Given the description of an element on the screen output the (x, y) to click on. 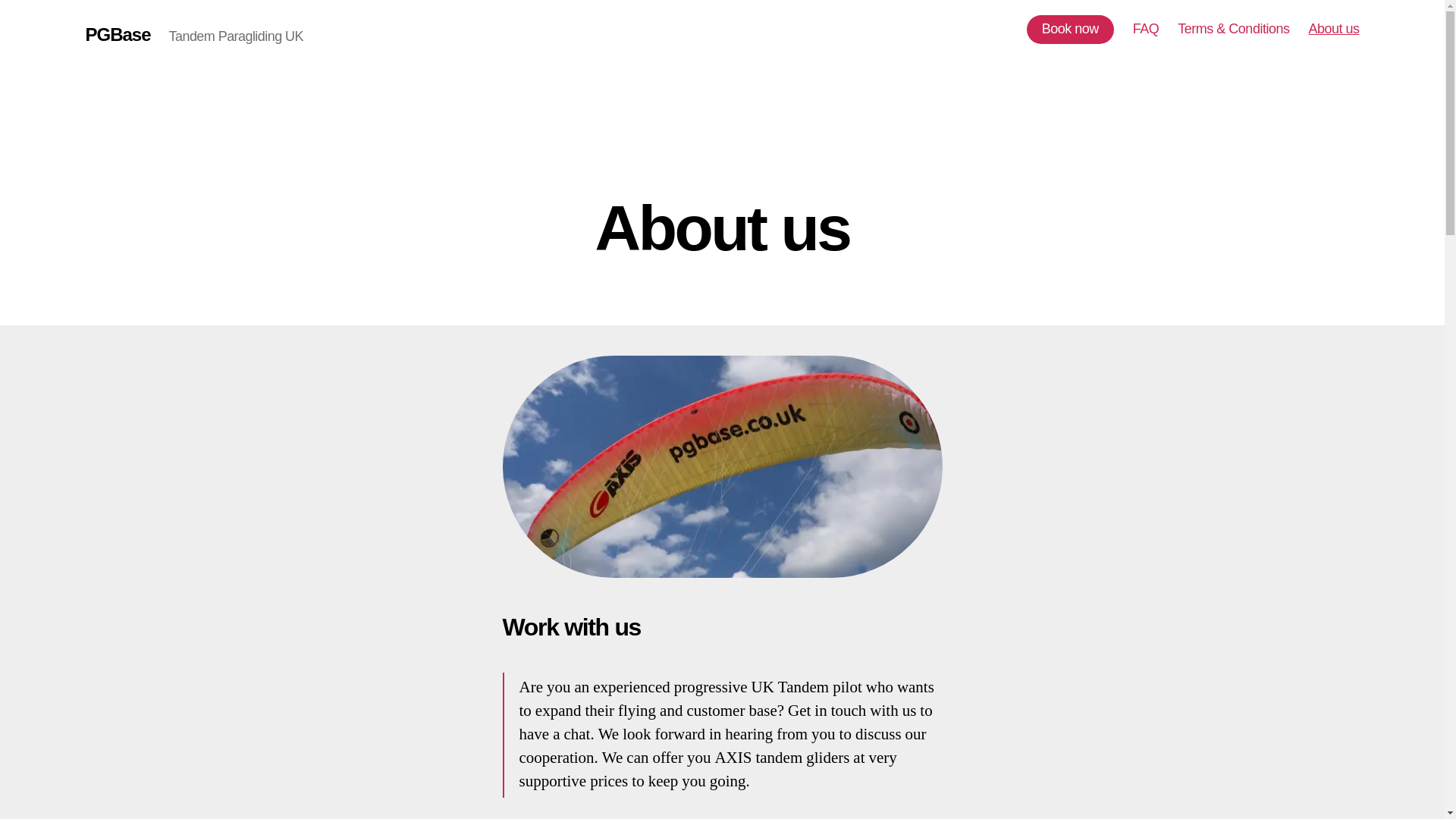
Tandem paragliding booking (1069, 29)
About us (1332, 29)
FAQ (1145, 29)
PGBase (116, 34)
Book now (1069, 29)
